Given the description of an element on the screen output the (x, y) to click on. 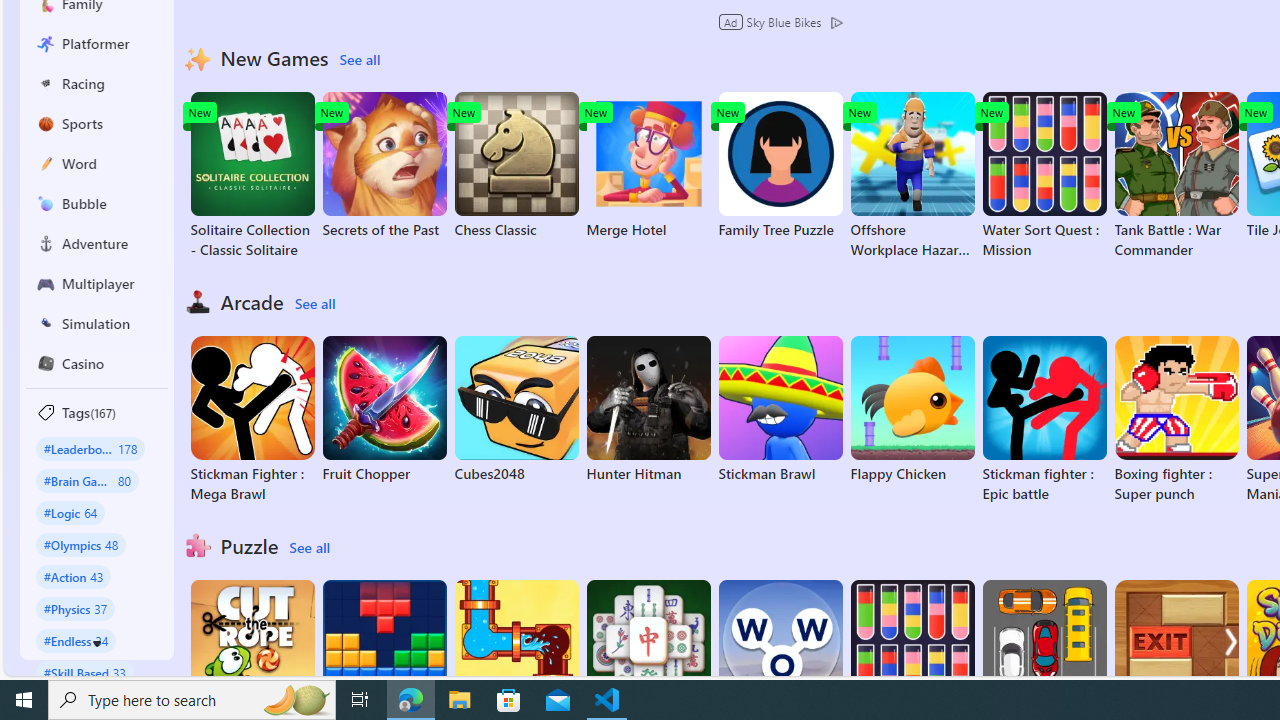
#Action 43 (73, 575)
Stickman fighter : Epic battle (1044, 419)
#Logic 64 (70, 511)
Secrets of the Past (384, 165)
Tank Battle : War Commander (1176, 175)
Flappy Chicken (912, 409)
Stickman Brawl (780, 409)
Class: ad-choice  ad-choice-mono  (836, 21)
Merge Hotel (648, 165)
Family Tree Puzzle (780, 165)
Chess Classic (516, 165)
See all (309, 547)
Hunter Hitman (648, 409)
#Physics 37 (75, 608)
